Given the description of an element on the screen output the (x, y) to click on. 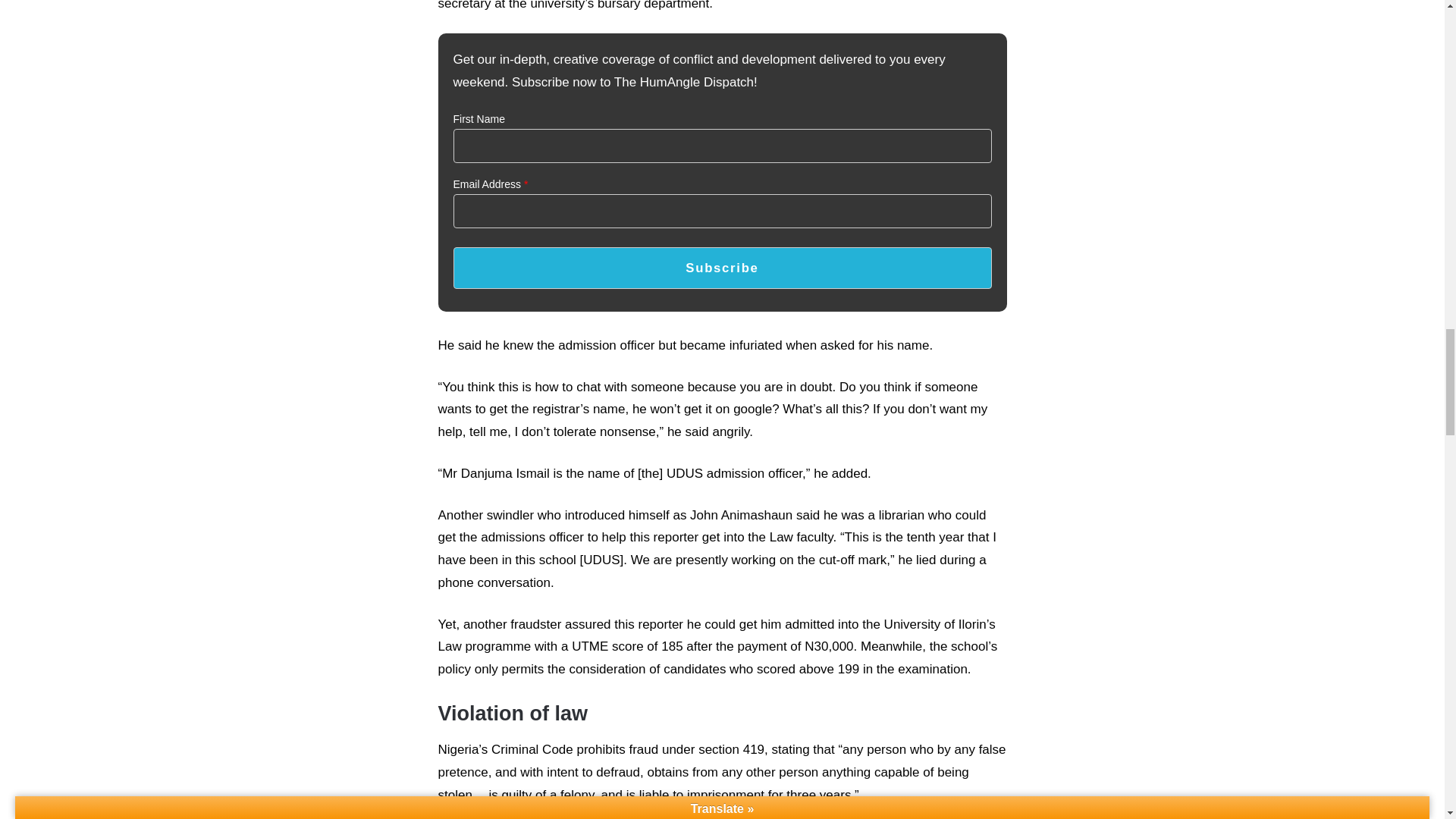
Subscribe (721, 268)
